Given the description of an element on the screen output the (x, y) to click on. 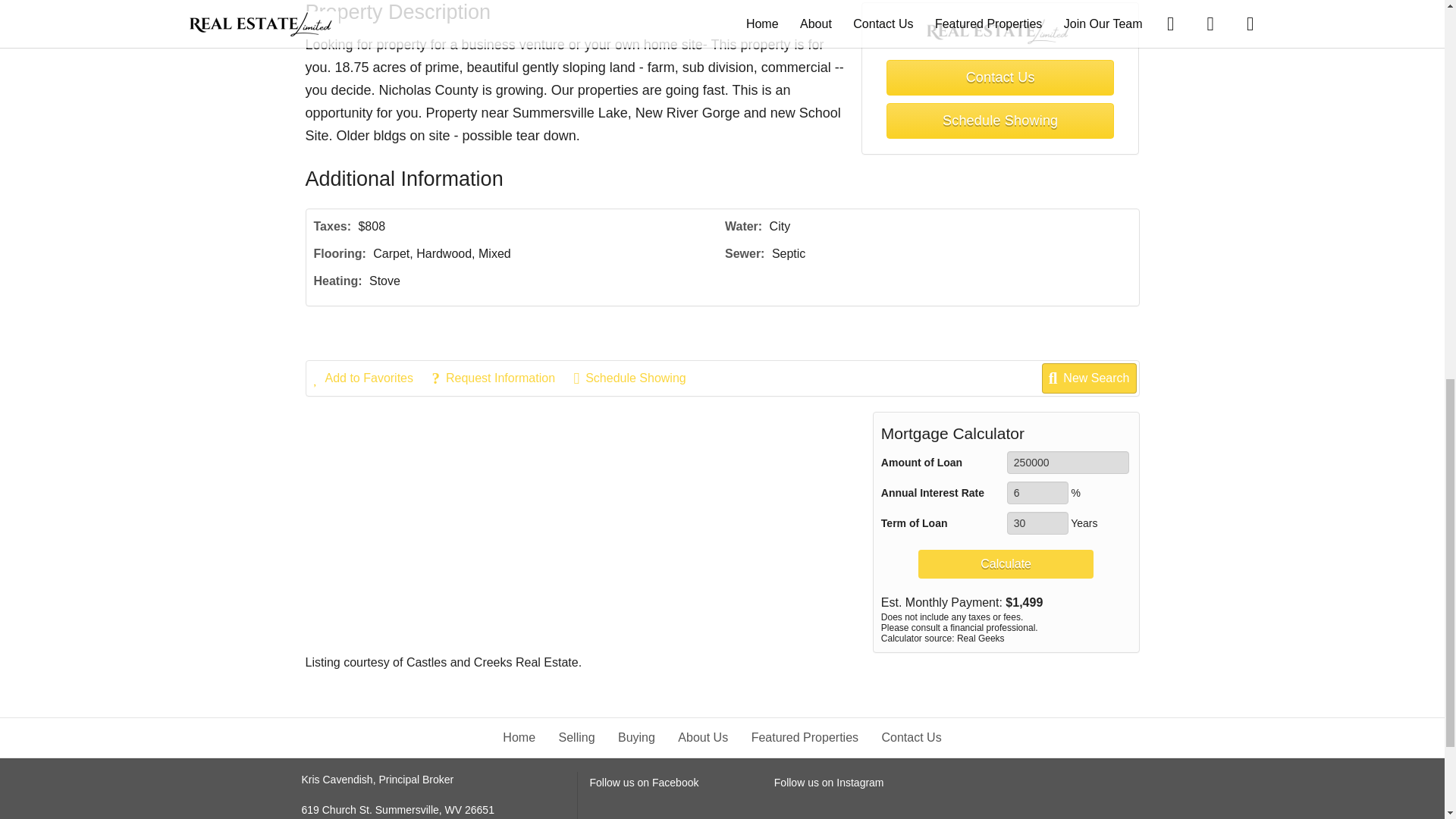
250000 (1068, 462)
Schedule Showing (999, 120)
30 (1037, 522)
Contact Us (999, 77)
6 (1037, 492)
